Given the description of an element on the screen output the (x, y) to click on. 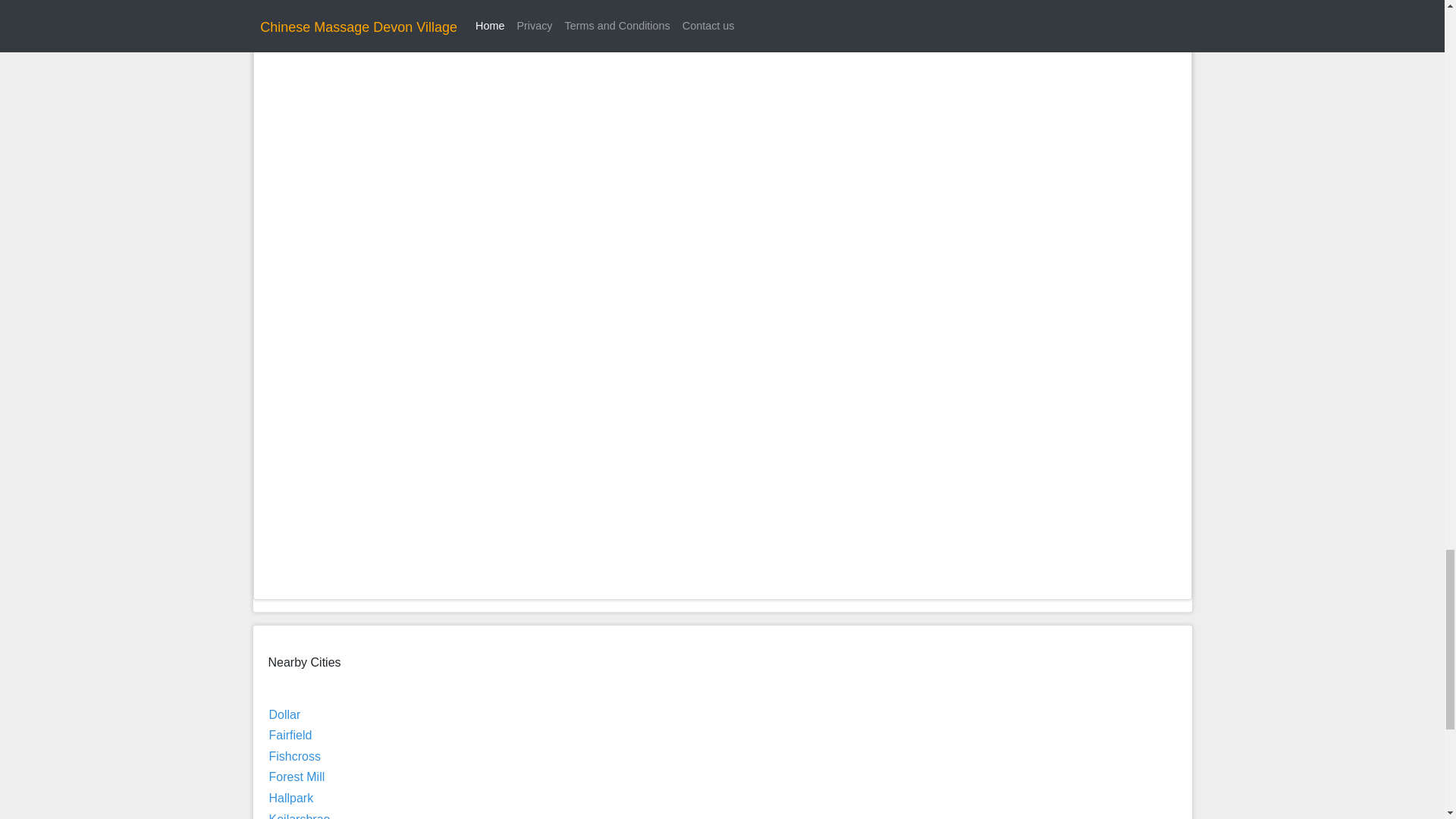
Keilarsbrae (298, 816)
Hallpark (290, 797)
Fairfield (289, 735)
Forest Mill (295, 776)
Fishcross (293, 756)
Dollar (283, 714)
